Given the description of an element on the screen output the (x, y) to click on. 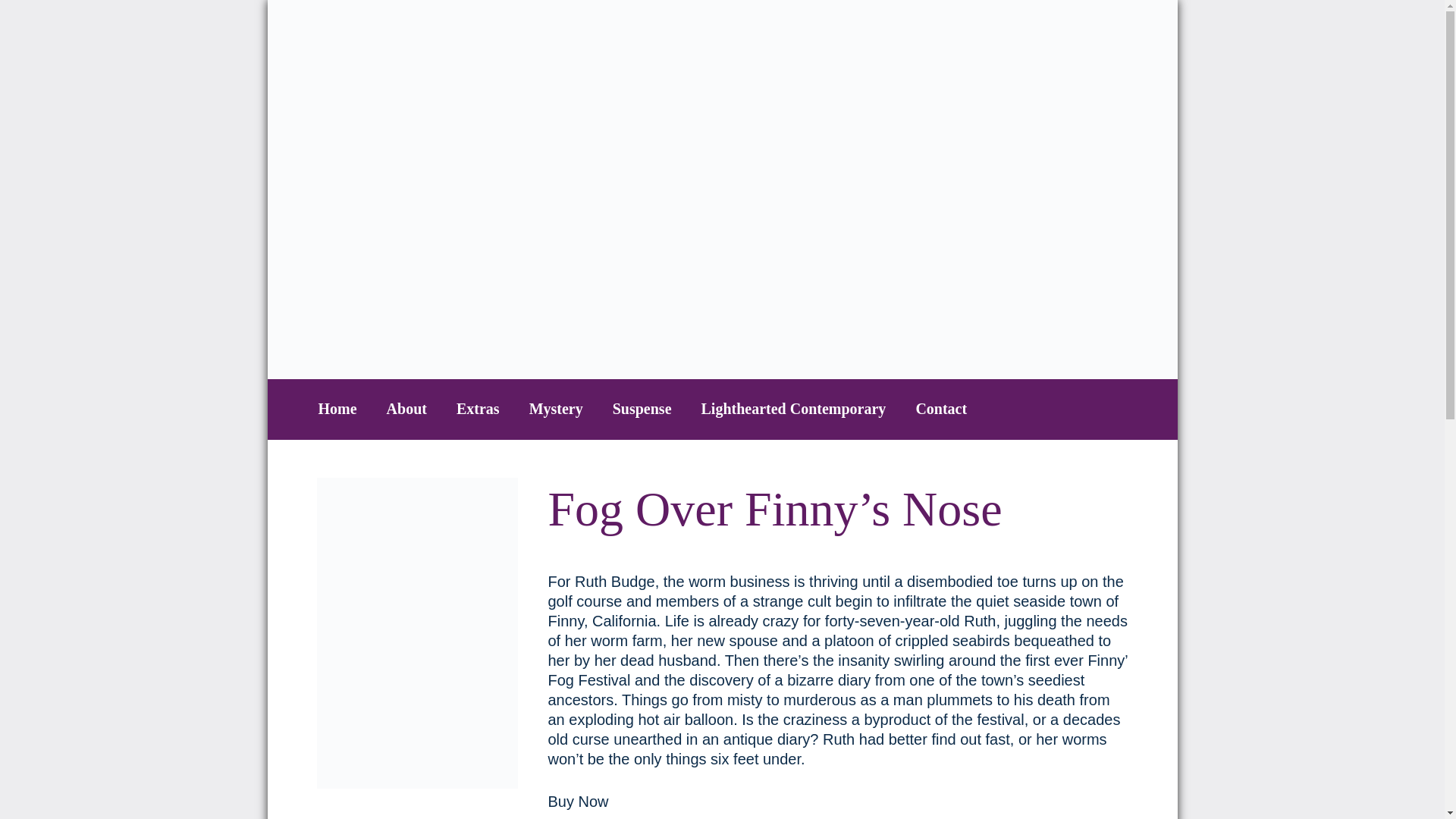
Extras (478, 408)
Home (337, 408)
About (406, 408)
Mystery (556, 408)
Lighthearted Contemporary (793, 408)
Suspense (641, 408)
Contact (940, 408)
